Given the description of an element on the screen output the (x, y) to click on. 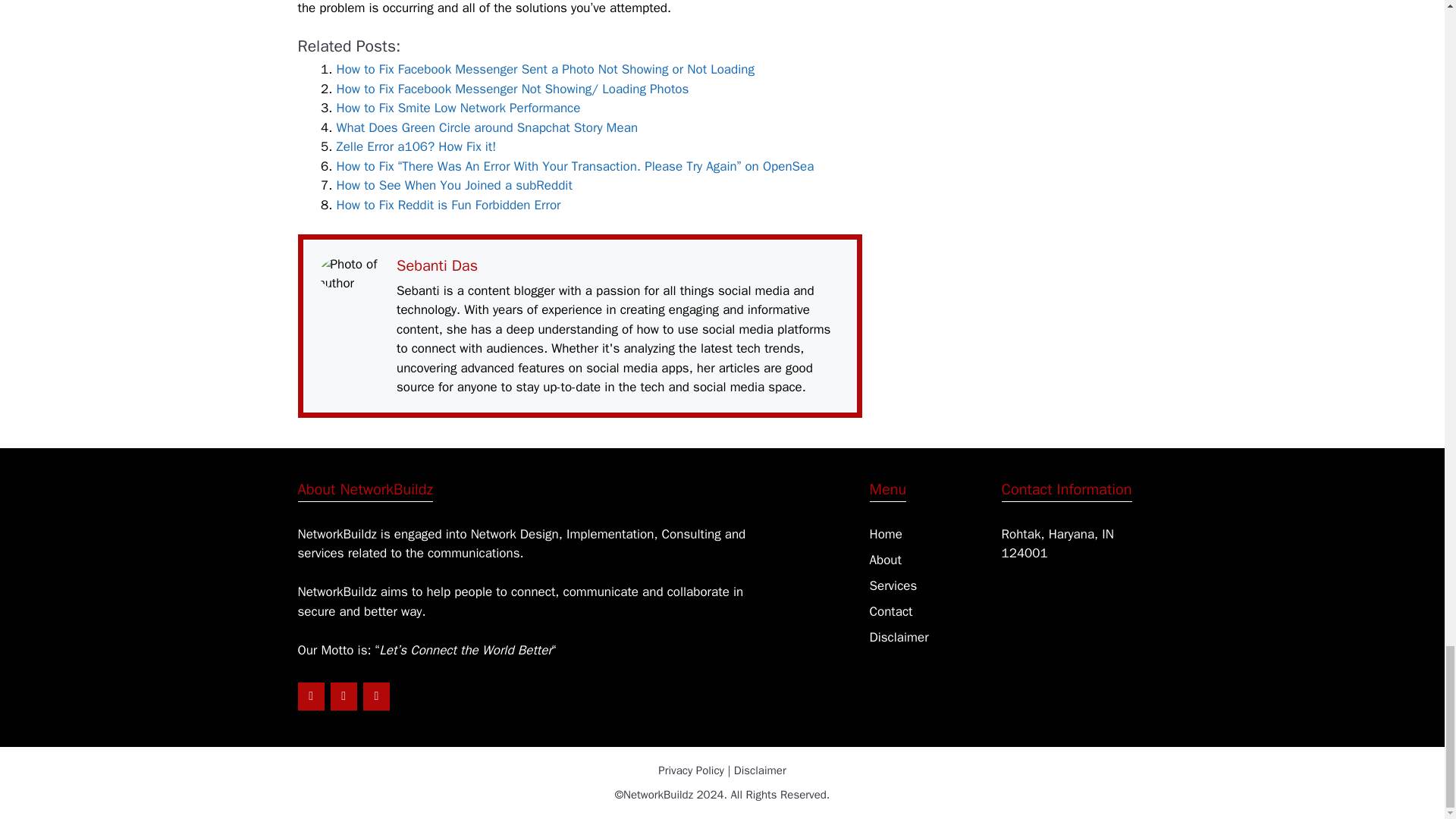
About (885, 560)
How to See When You Joined a subReddit (454, 185)
How to See When You Joined a subReddit (454, 185)
How to Fix Reddit is Fun Forbidden Error (448, 204)
How to Fix Smite Low Network Performance (458, 107)
How to Fix Reddit is Fun Forbidden Error (448, 204)
How to Fix Smite Low Network Performance (458, 107)
YouTube (376, 696)
Zelle Error a106? How Fix it! (416, 146)
What Does Green Circle around Snapchat Story Mean (487, 127)
Zelle Error a106? How Fix it! (416, 146)
LinkedIn (310, 696)
Twitter (343, 696)
Sebanti Das (436, 265)
